Given the description of an element on the screen output the (x, y) to click on. 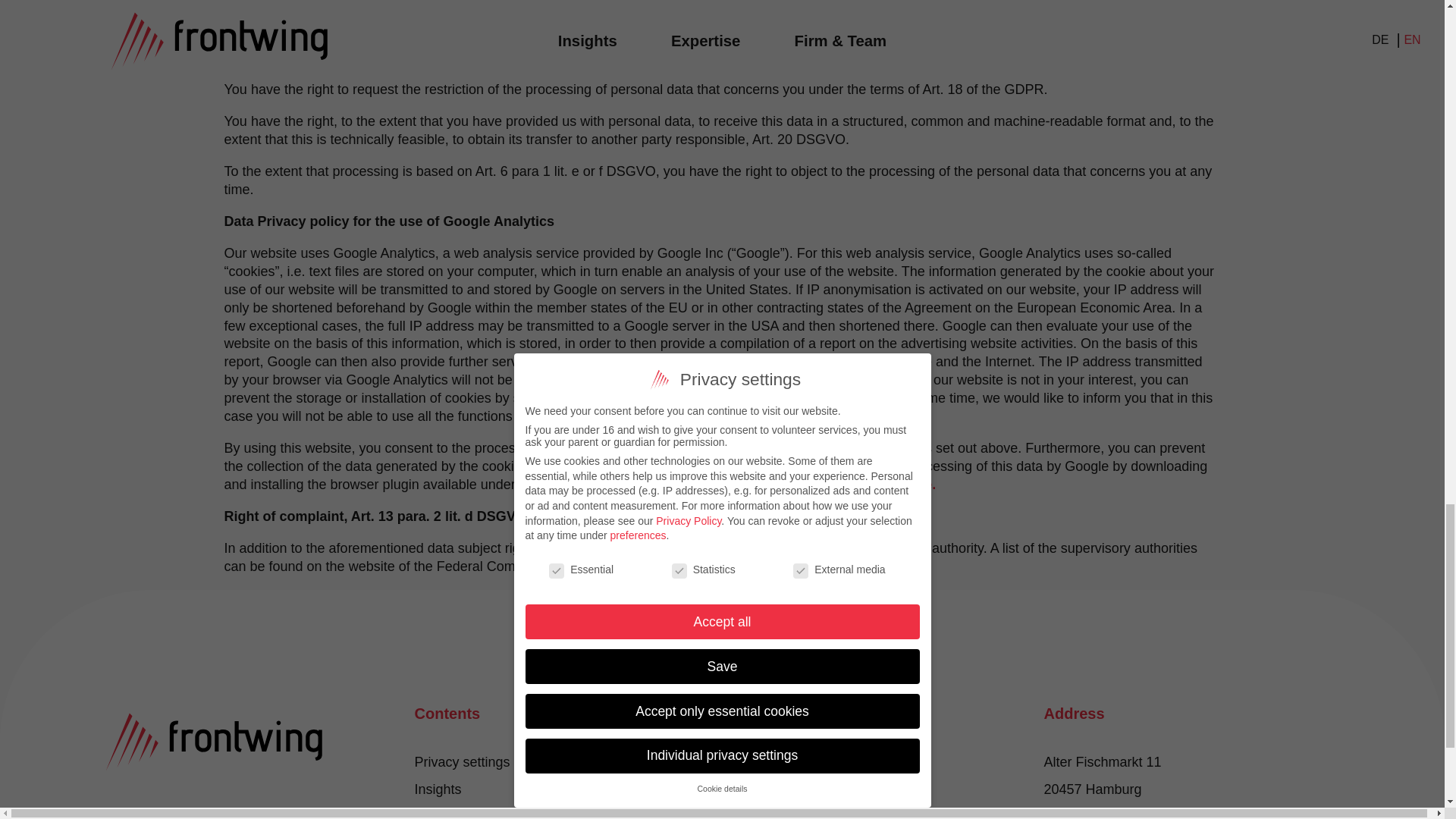
Insights (437, 789)
Privacy settings (461, 761)
Expertise (441, 814)
